Given the description of an element on the screen output the (x, y) to click on. 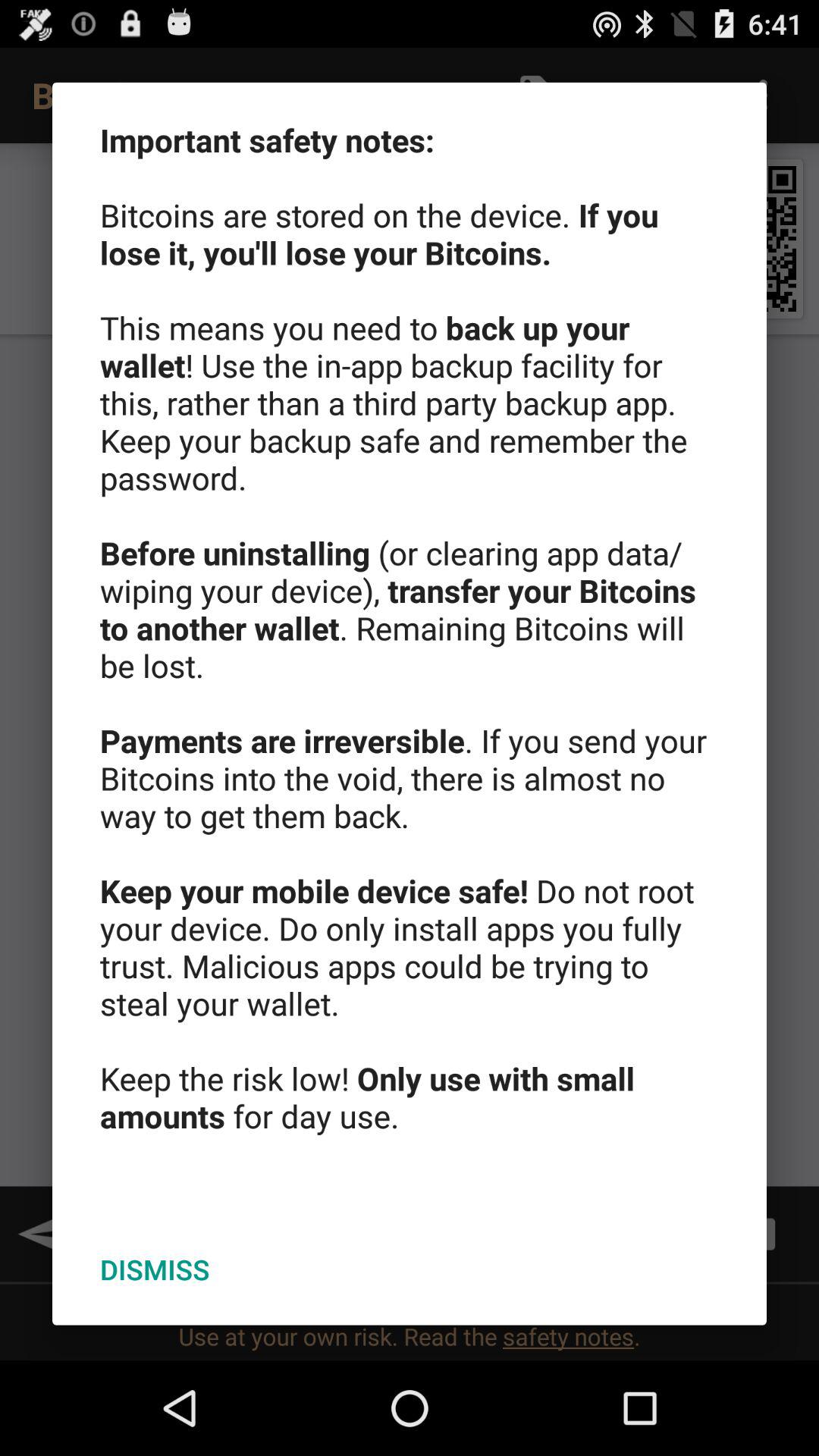
choose dismiss button (154, 1269)
